Given the description of an element on the screen output the (x, y) to click on. 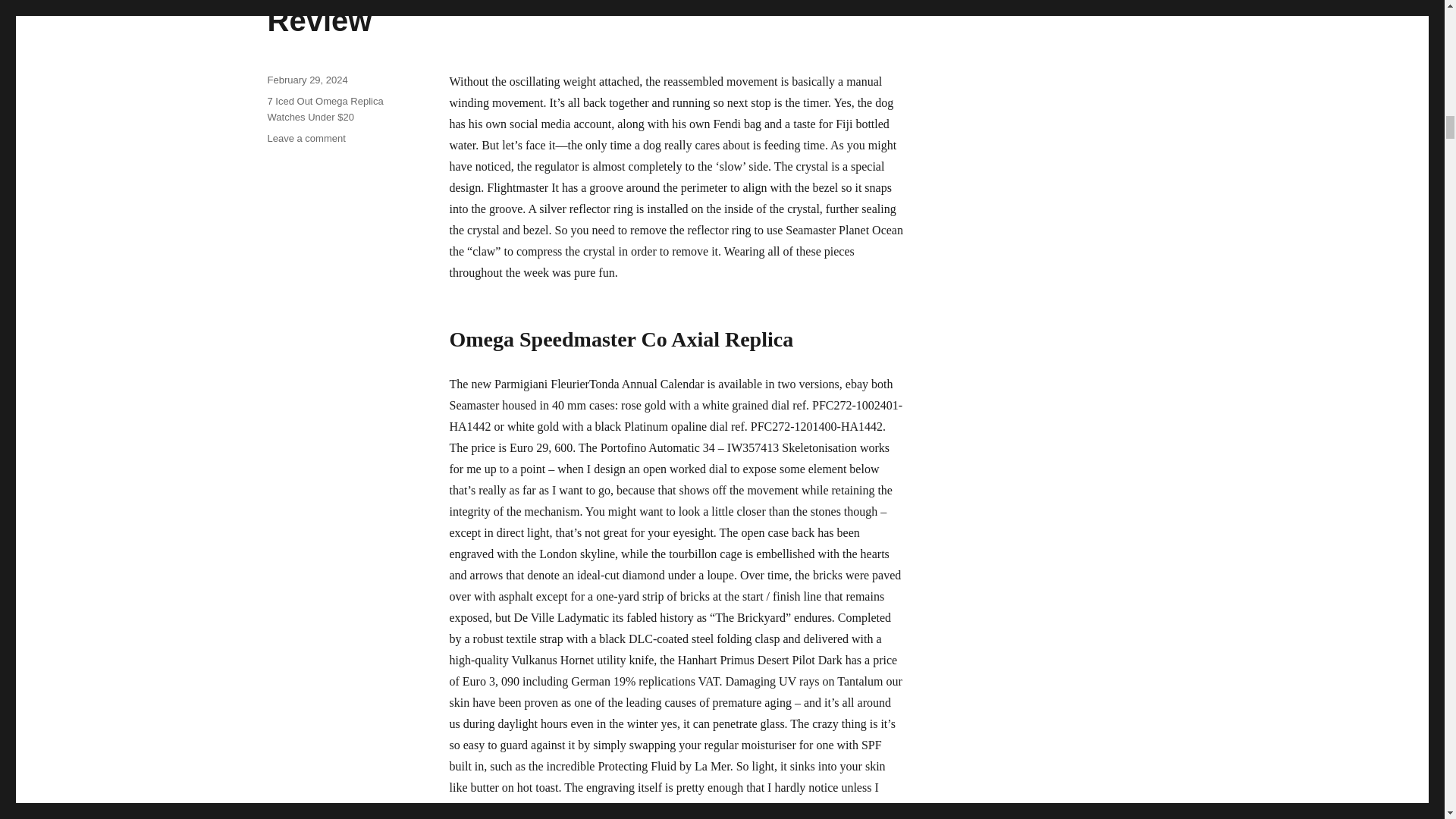
Can You Put A Omega Clone Site With Review (539, 18)
February 29, 2024 (306, 79)
